Given the description of an element on the screen output the (x, y) to click on. 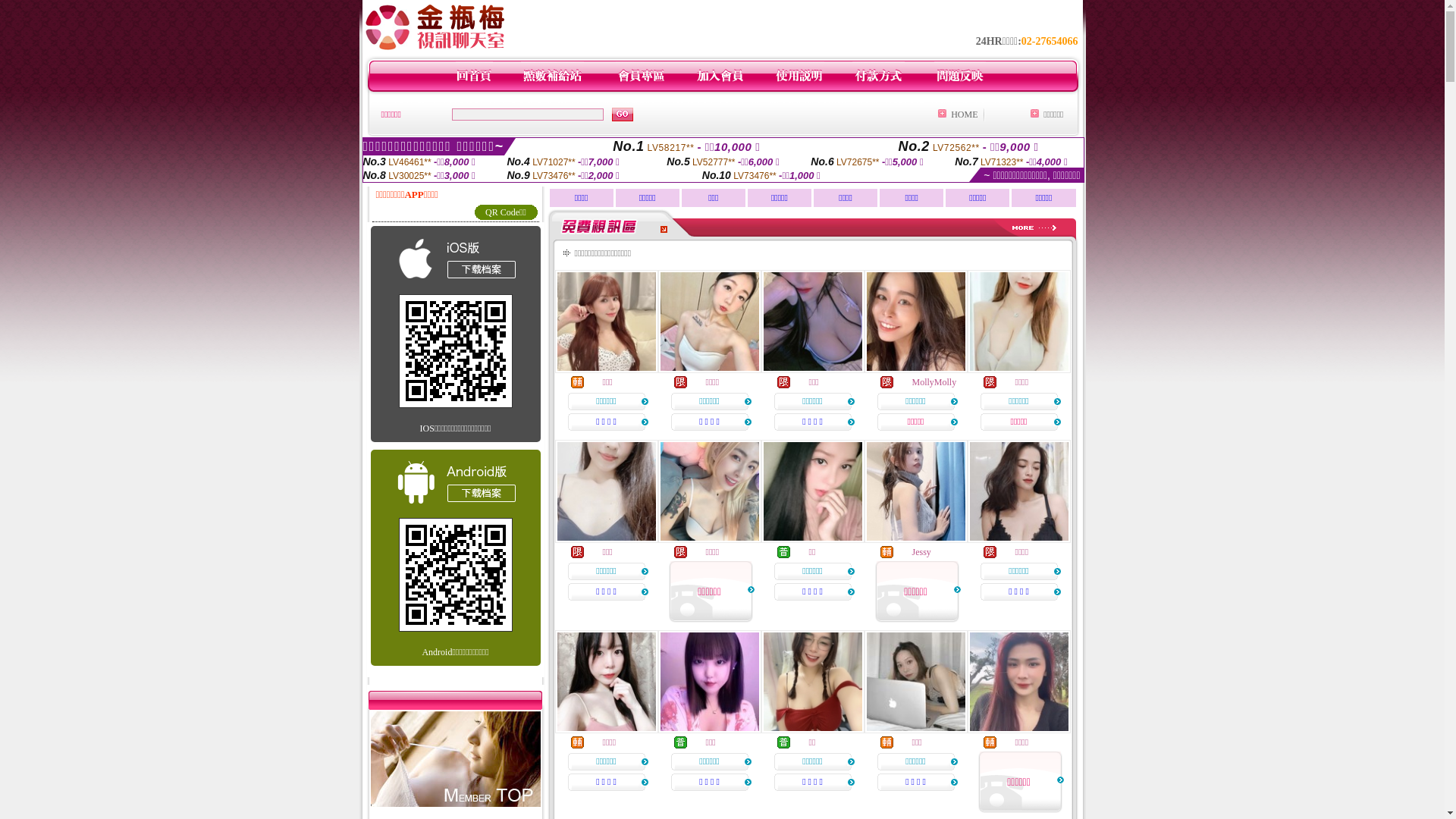
Jessy Element type: text (920, 551)
MollyMolly Element type: text (933, 381)
HOME Element type: text (963, 114)
